Given the description of an element on the screen output the (x, y) to click on. 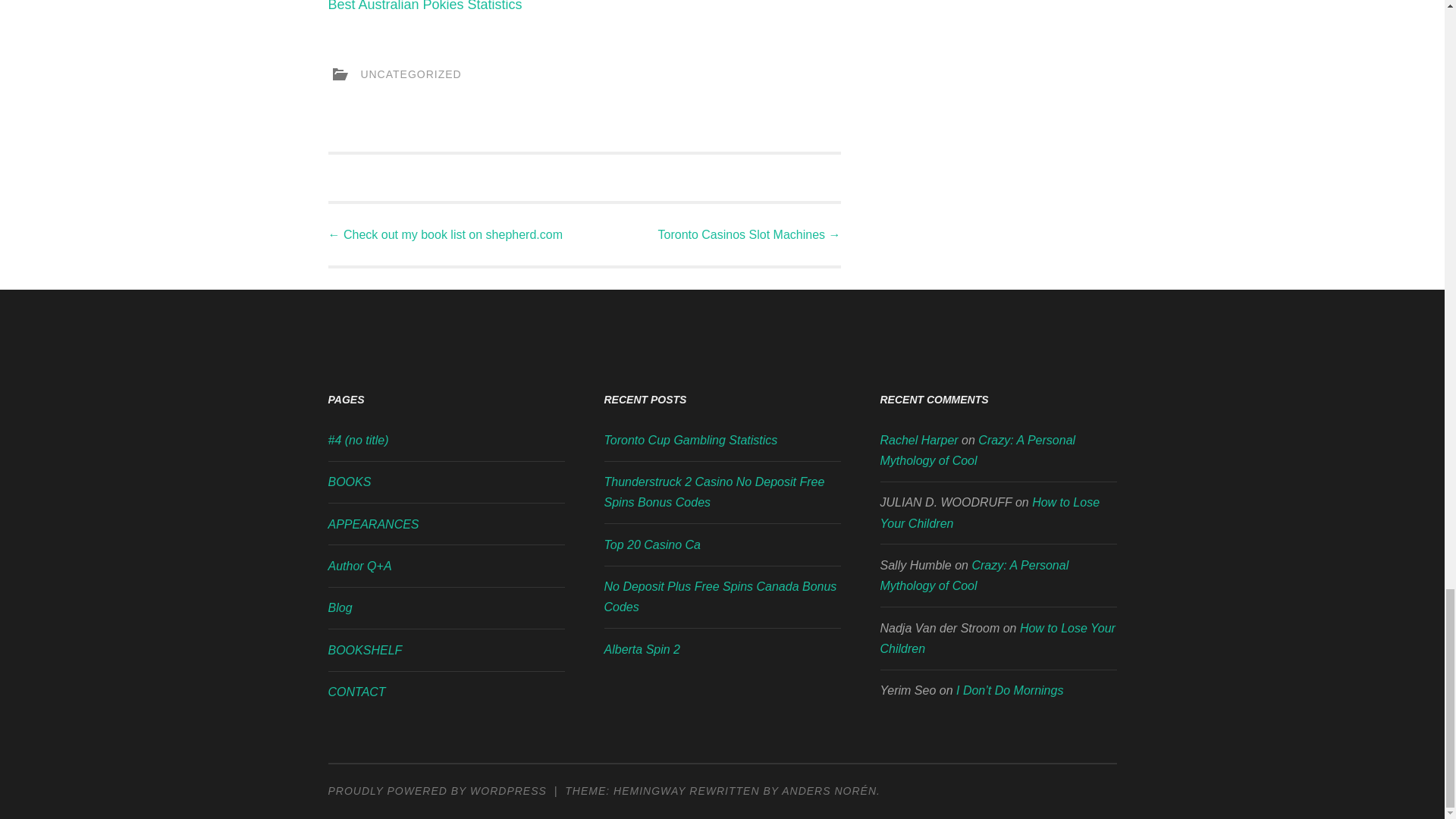
Top 20 Casino Ca (652, 544)
Best Australian Pokies Statistics (424, 6)
Blog (339, 607)
BOOKSHELF (364, 649)
Toronto Cup Gambling Statistics (690, 440)
APPEARANCES (373, 523)
Thunderstruck 2 Casino No Deposit Free Spins Bonus Codes (714, 491)
CONTACT (356, 691)
BOOKS (349, 481)
